Given the description of an element on the screen output the (x, y) to click on. 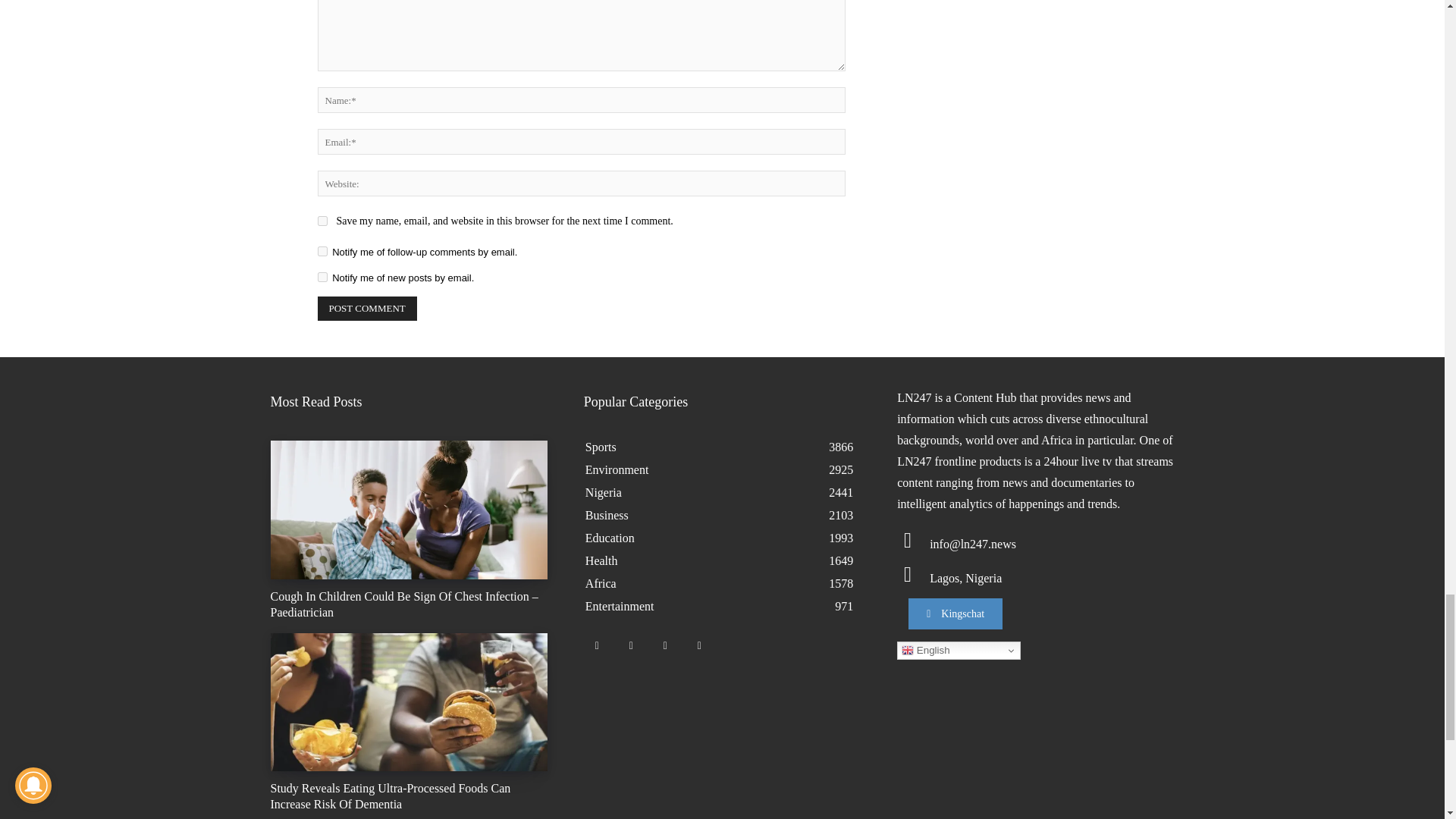
yes (321, 221)
subscribe (321, 251)
Post Comment (366, 308)
subscribe (321, 276)
